Given the description of an element on the screen output the (x, y) to click on. 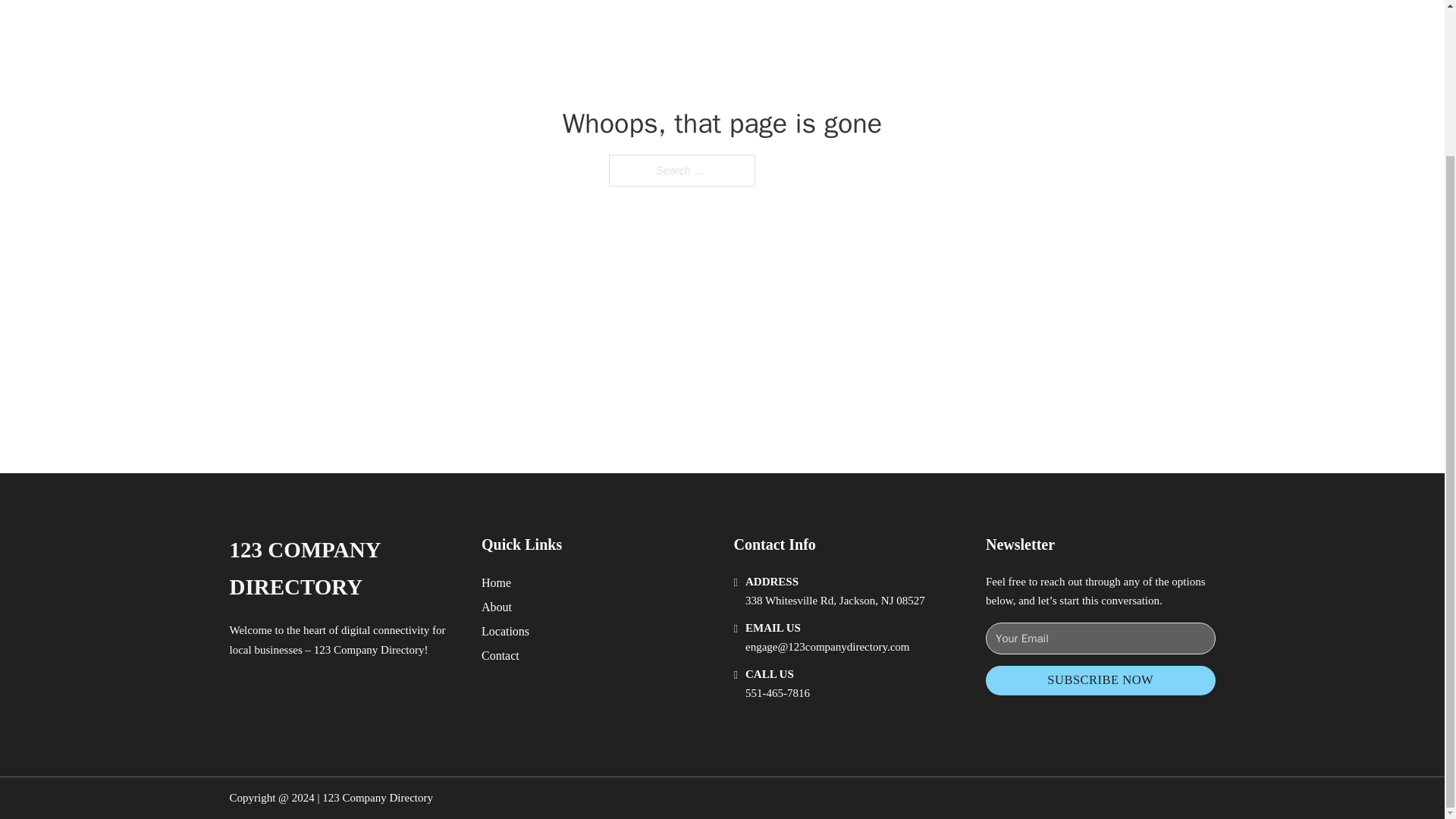
123 COMPANY DIRECTORY (343, 568)
Contact (500, 655)
551-465-7816 (777, 693)
SUBSCRIBE NOW (1100, 680)
About (496, 607)
Home (496, 582)
Locations (505, 630)
